Given the description of an element on the screen output the (x, y) to click on. 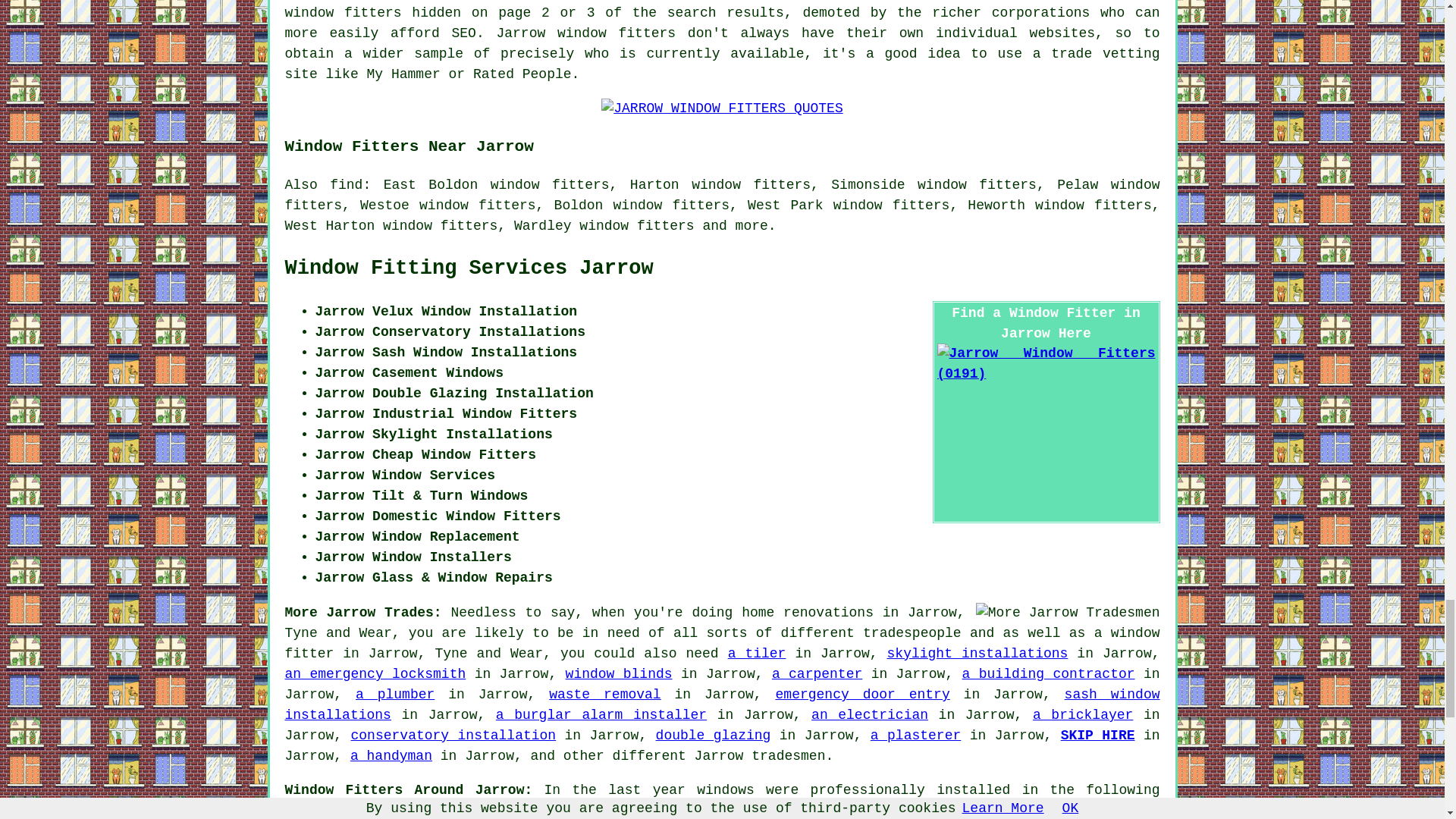
JARROW WINDOW FITTERS QUOTES (722, 108)
More Jarrow Tradesmen (1067, 612)
